Given the description of an element on the screen output the (x, y) to click on. 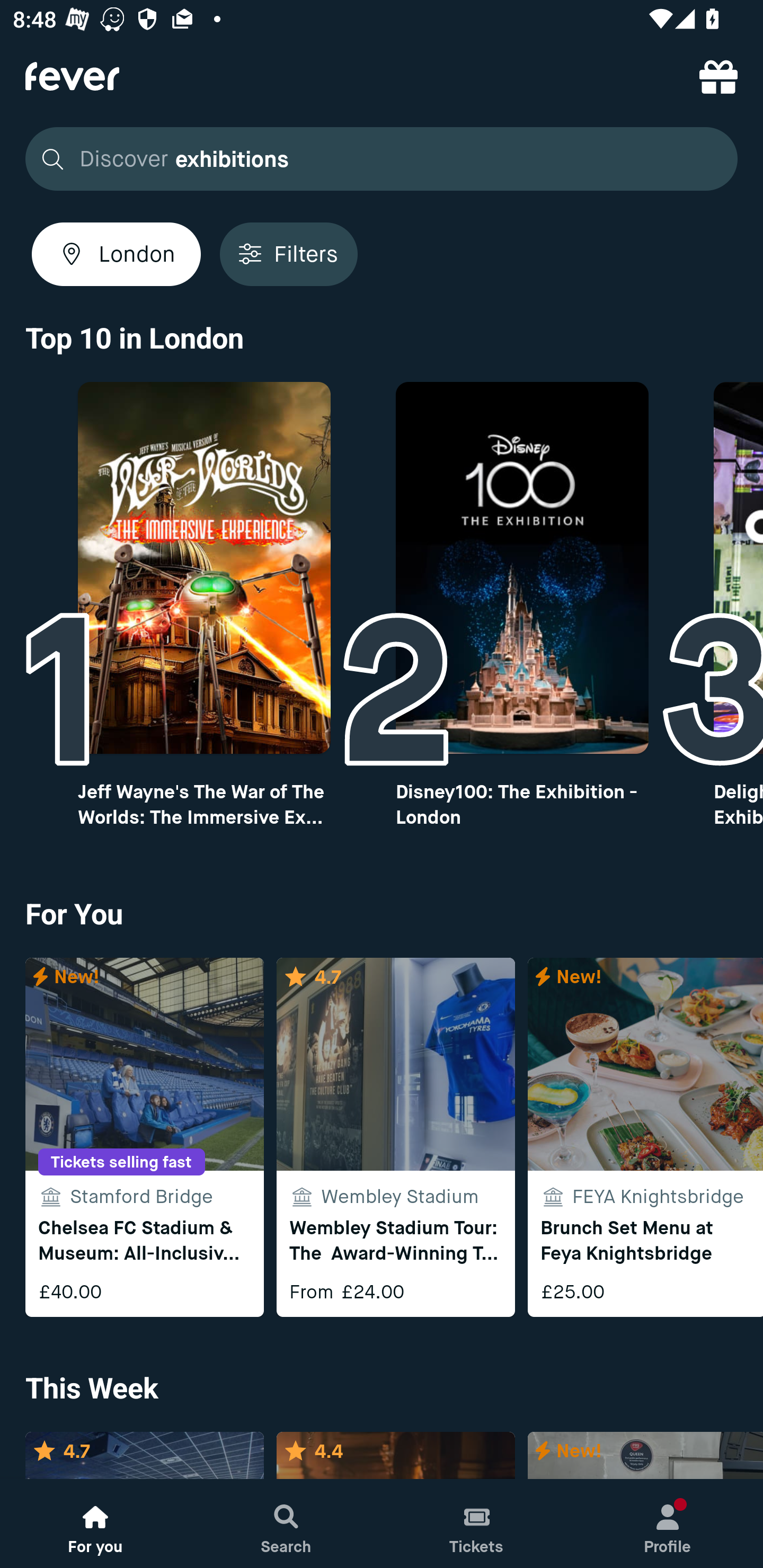
referral (718, 75)
Discover exhibitions (381, 158)
Discover exhibitions (376, 158)
London (116, 253)
Filters (288, 253)
Top10 image (203, 568)
Top10 image (521, 568)
Search (285, 1523)
Tickets (476, 1523)
Profile, New notification Profile (667, 1523)
